Given the description of an element on the screen output the (x, y) to click on. 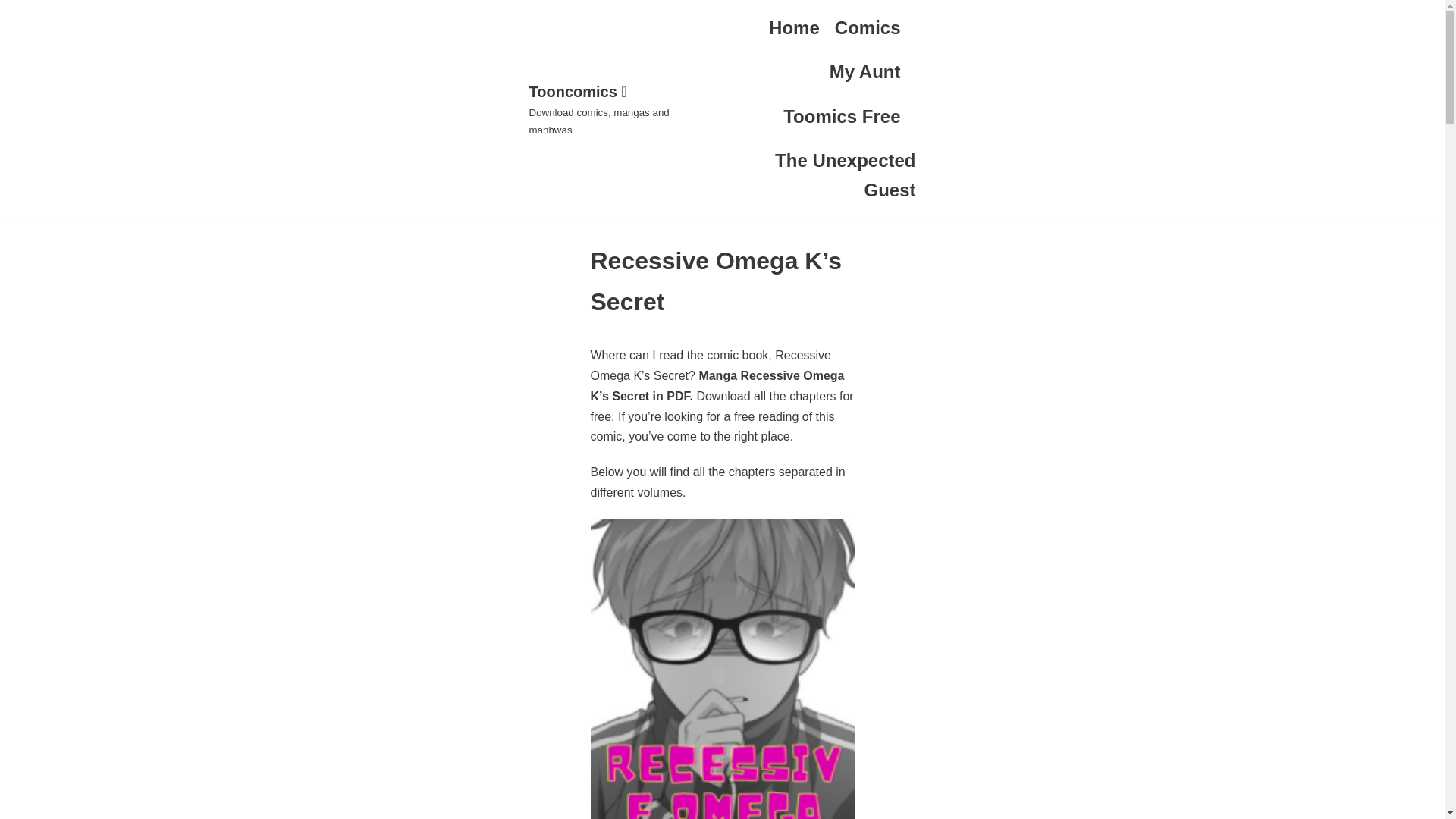
The Unexpected Guest (820, 175)
Home (793, 27)
My Aunt (865, 71)
Saltar al contenido (15, 7)
Toomics Free (841, 116)
Comics (867, 27)
